Given the description of an element on the screen output the (x, y) to click on. 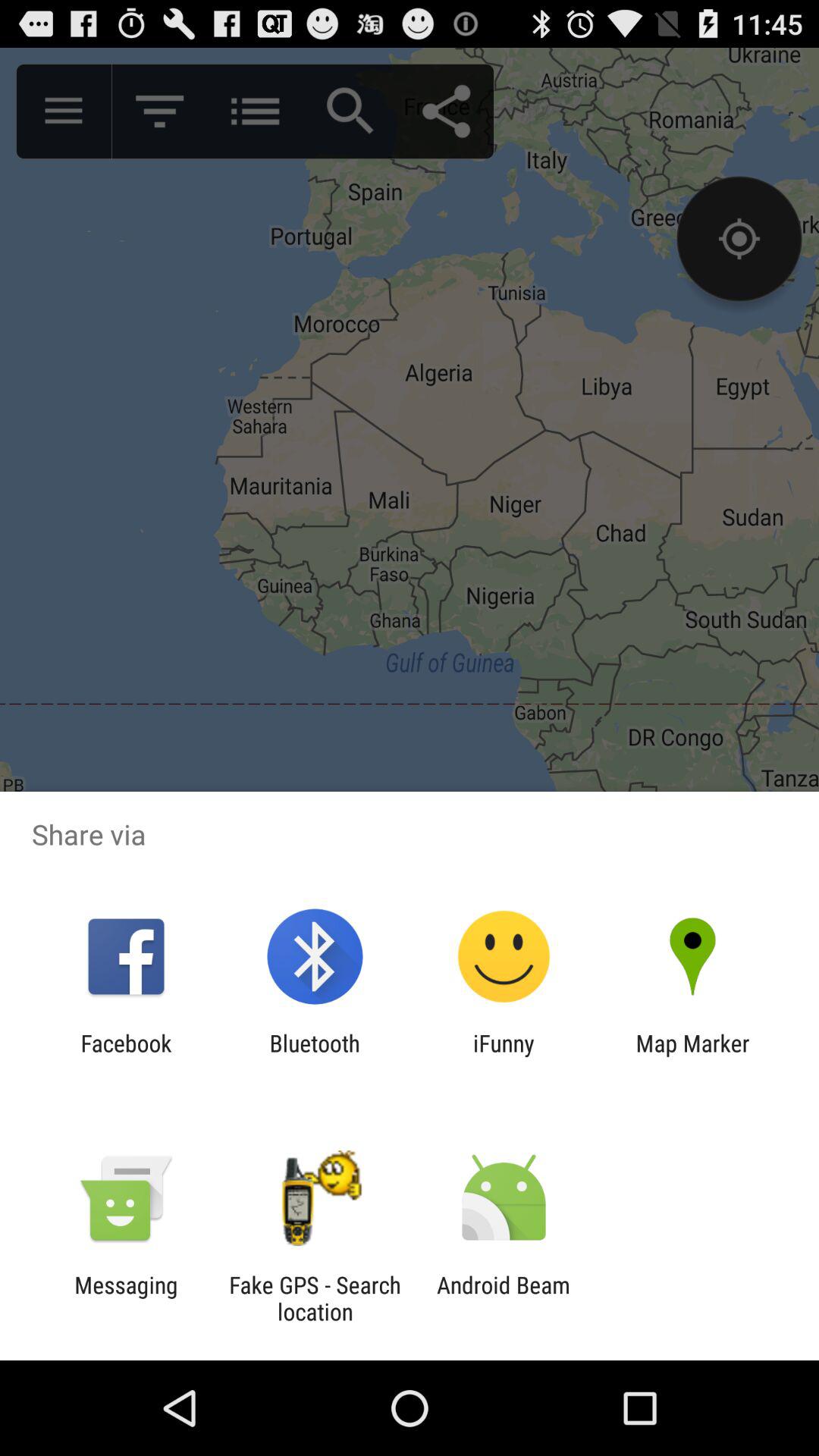
turn on icon next to ifunny item (692, 1056)
